Given the description of an element on the screen output the (x, y) to click on. 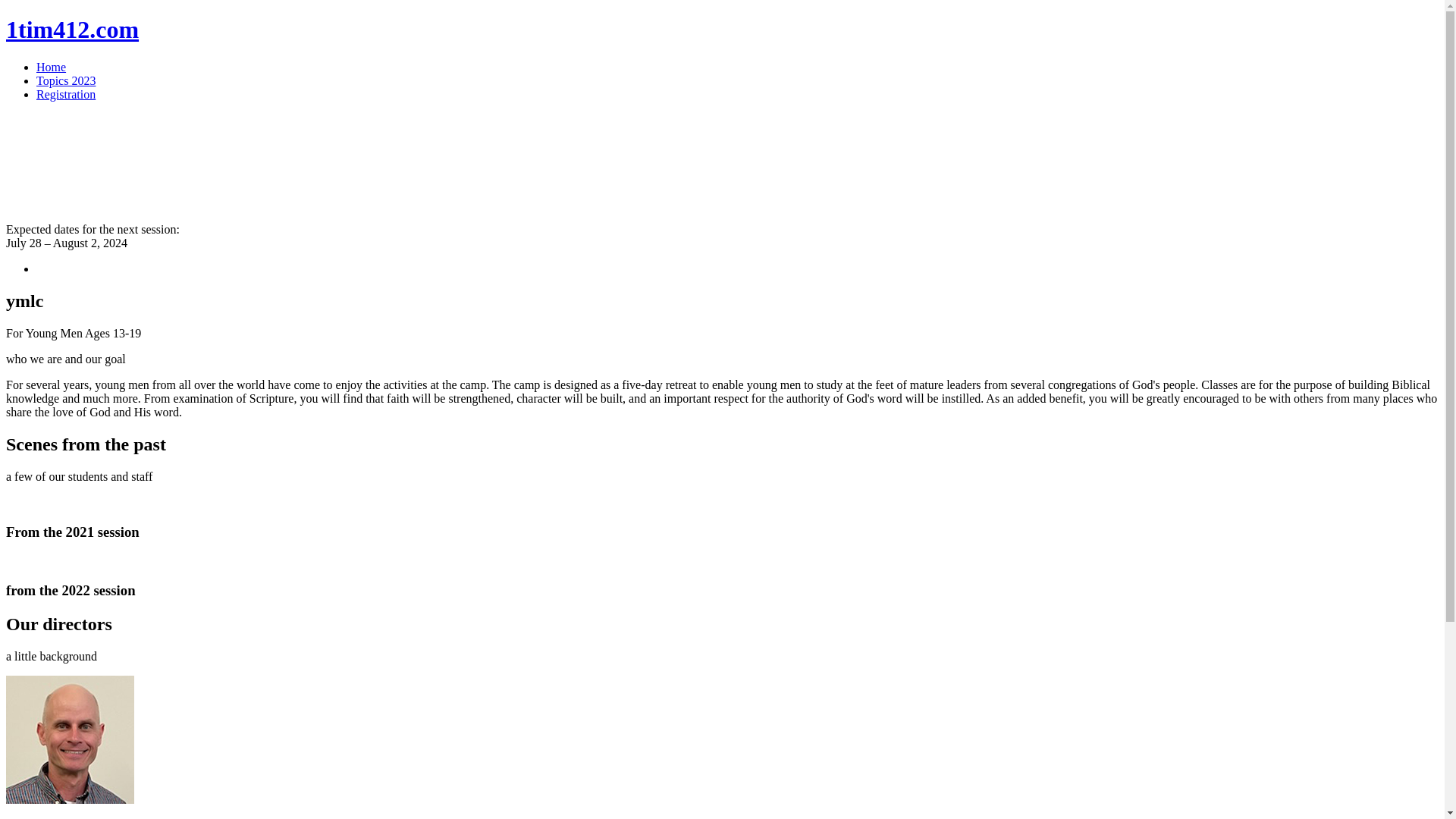
Home Element type: text (50, 66)
Registration Element type: text (65, 93)
Topics 2023 Element type: text (65, 80)
1tim412.com Element type: text (72, 29)
